Given the description of an element on the screen output the (x, y) to click on. 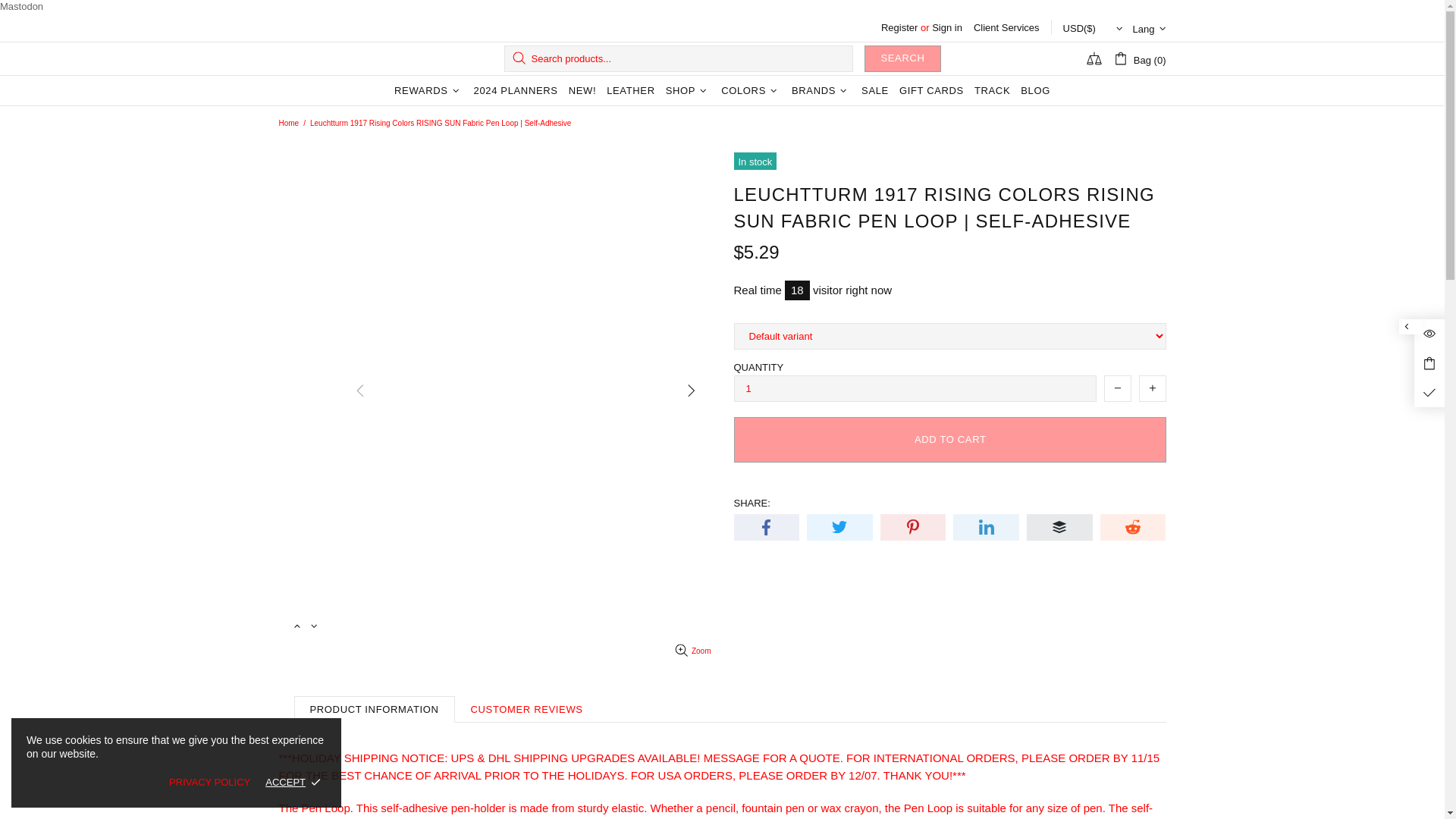
SHOP (688, 91)
LEATHER (631, 91)
Mastodon (21, 6)
1 (914, 388)
NEW! (582, 91)
REWARDS (428, 91)
Client Services (1006, 27)
SEARCH (902, 58)
Register (898, 27)
2024 PLANNERS (515, 91)
